Given the description of an element on the screen output the (x, y) to click on. 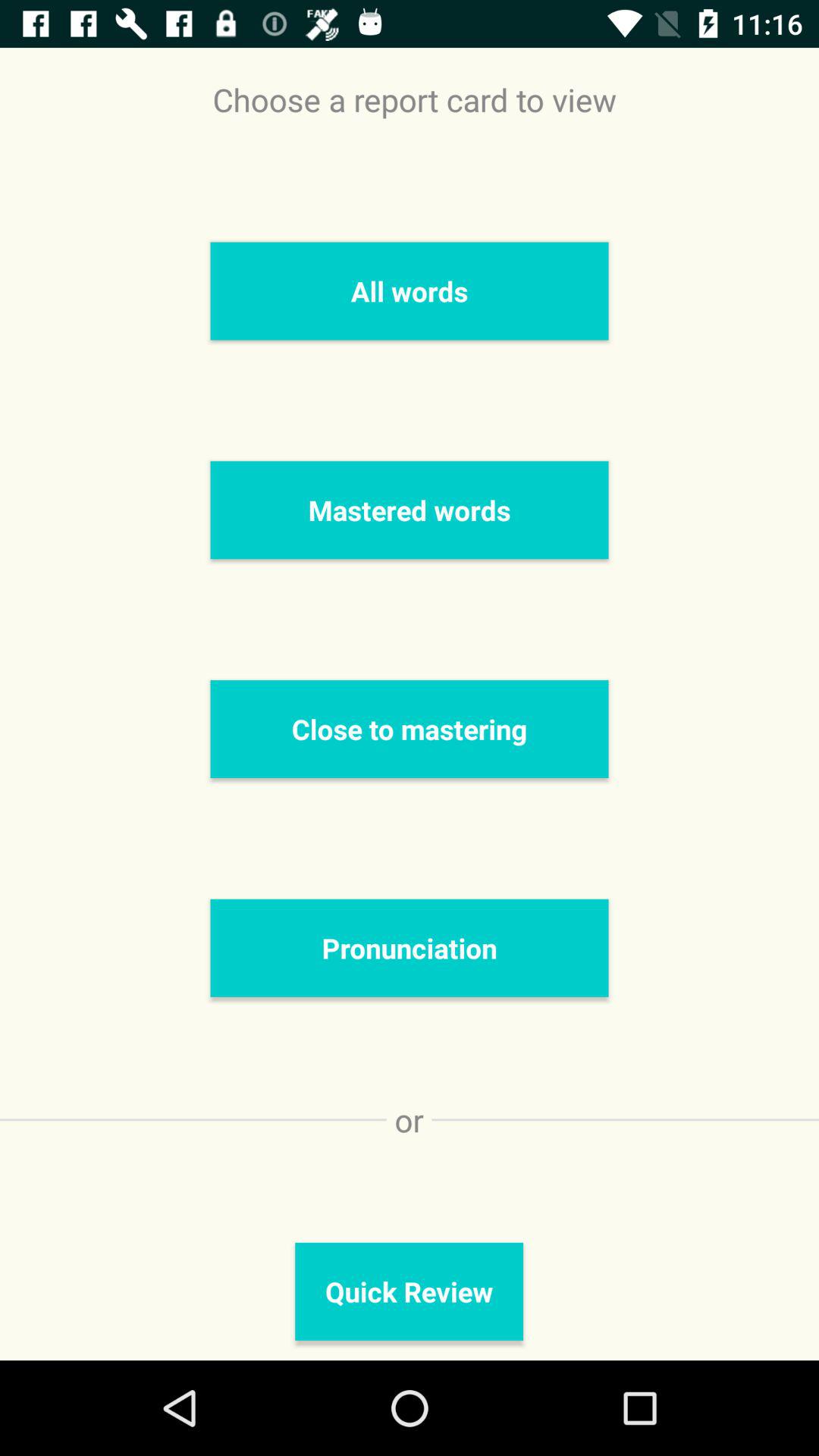
open quick review (409, 1291)
